Given the description of an element on the screen output the (x, y) to click on. 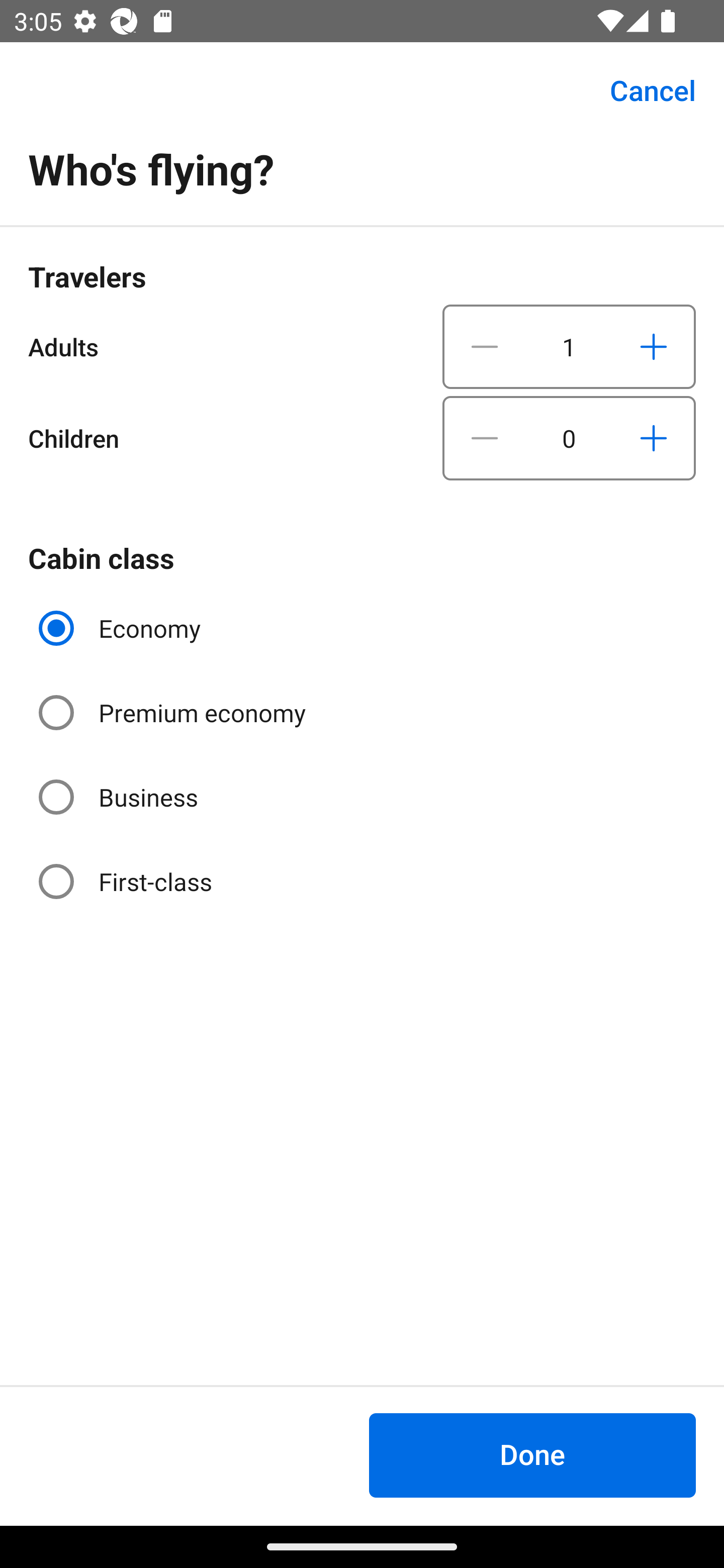
Cancel (641, 90)
Decrease (484, 346)
Increase (653, 346)
Decrease (484, 437)
Increase (653, 437)
Economy (121, 628)
Premium economy (174, 712)
Business (120, 796)
First-class (126, 880)
Done (532, 1454)
